Given the description of an element on the screen output the (x, y) to click on. 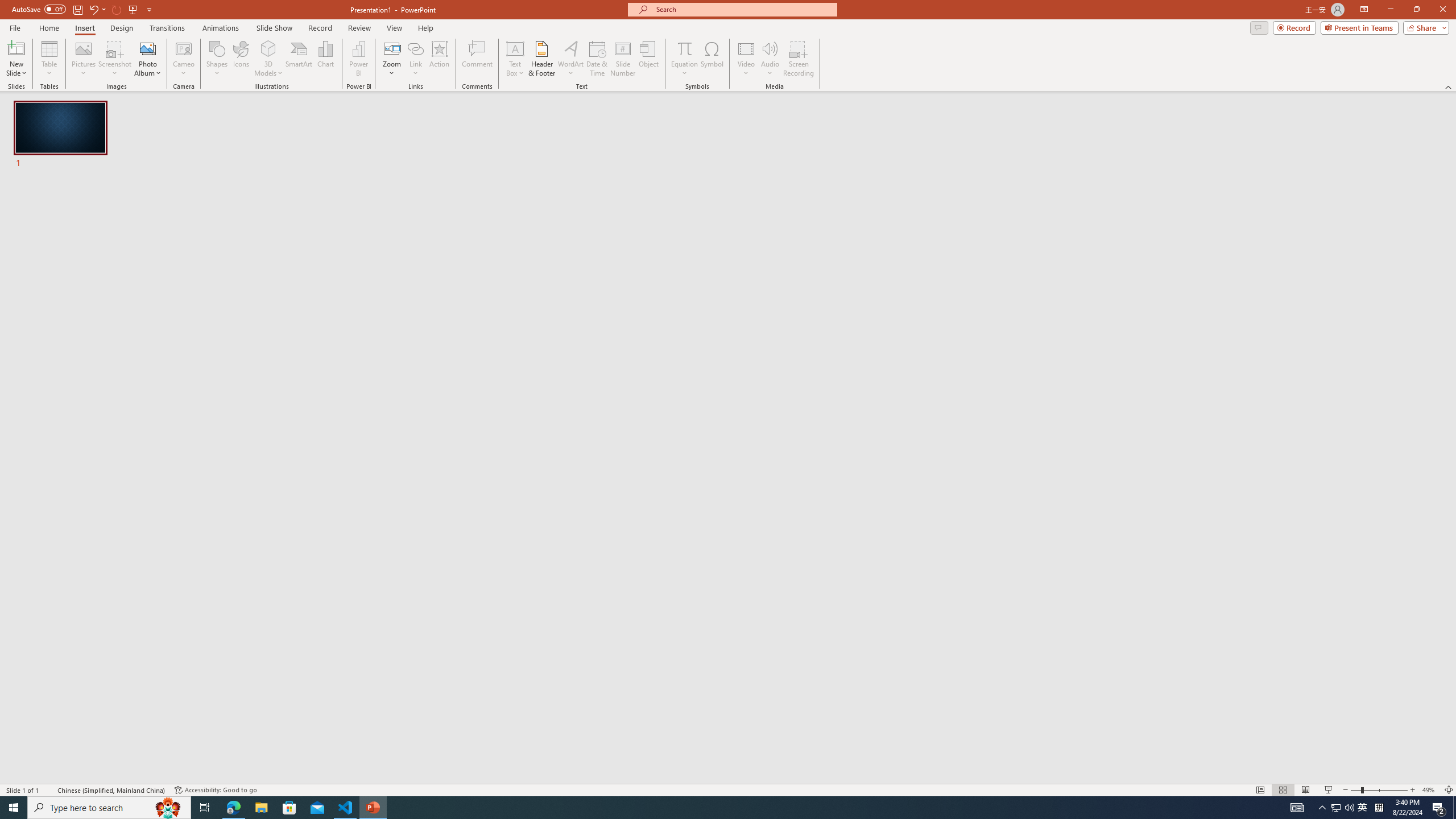
Accessibility Checker Accessibility: Good to go (216, 790)
Date & Time... (596, 58)
